Given the description of an element on the screen output the (x, y) to click on. 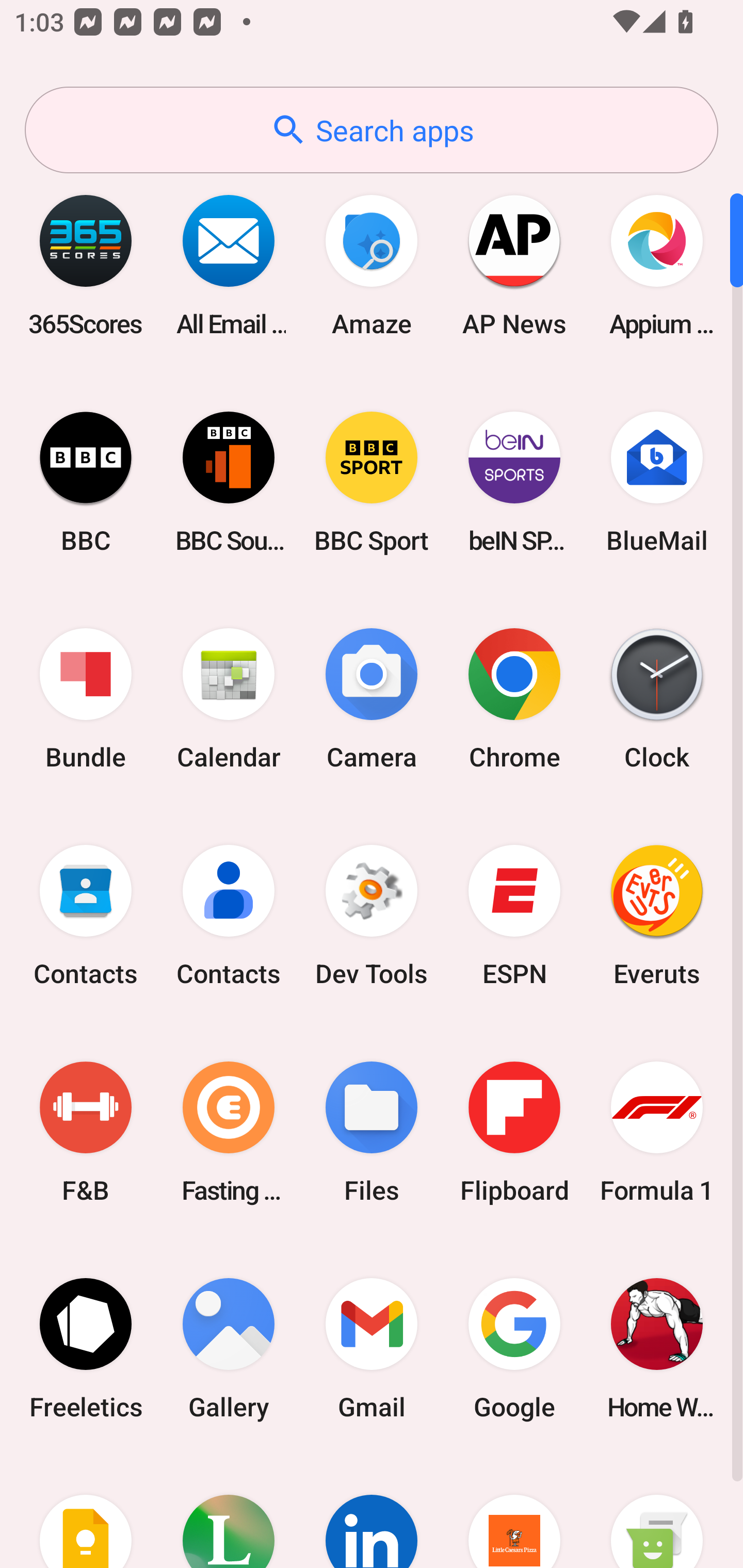
  Search apps (371, 130)
365Scores (85, 264)
All Email Connect (228, 264)
Amaze (371, 264)
AP News (514, 264)
Appium Settings (656, 264)
BBC (85, 482)
BBC Sounds (228, 482)
BBC Sport (371, 482)
beIN SPORTS (514, 482)
BlueMail (656, 482)
Bundle (85, 699)
Calendar (228, 699)
Camera (371, 699)
Chrome (514, 699)
Clock (656, 699)
Contacts (85, 915)
Contacts (228, 915)
Dev Tools (371, 915)
ESPN (514, 915)
Everuts (656, 915)
F&B (85, 1131)
Fasting Coach (228, 1131)
Files (371, 1131)
Flipboard (514, 1131)
Formula 1 (656, 1131)
Freeletics (85, 1348)
Gallery (228, 1348)
Gmail (371, 1348)
Google (514, 1348)
Home Workout (656, 1348)
Keep Notes (85, 1512)
Lifesum (228, 1512)
LinkedIn (371, 1512)
Little Caesars Pizza (514, 1512)
Messaging (656, 1512)
